Given the description of an element on the screen output the (x, y) to click on. 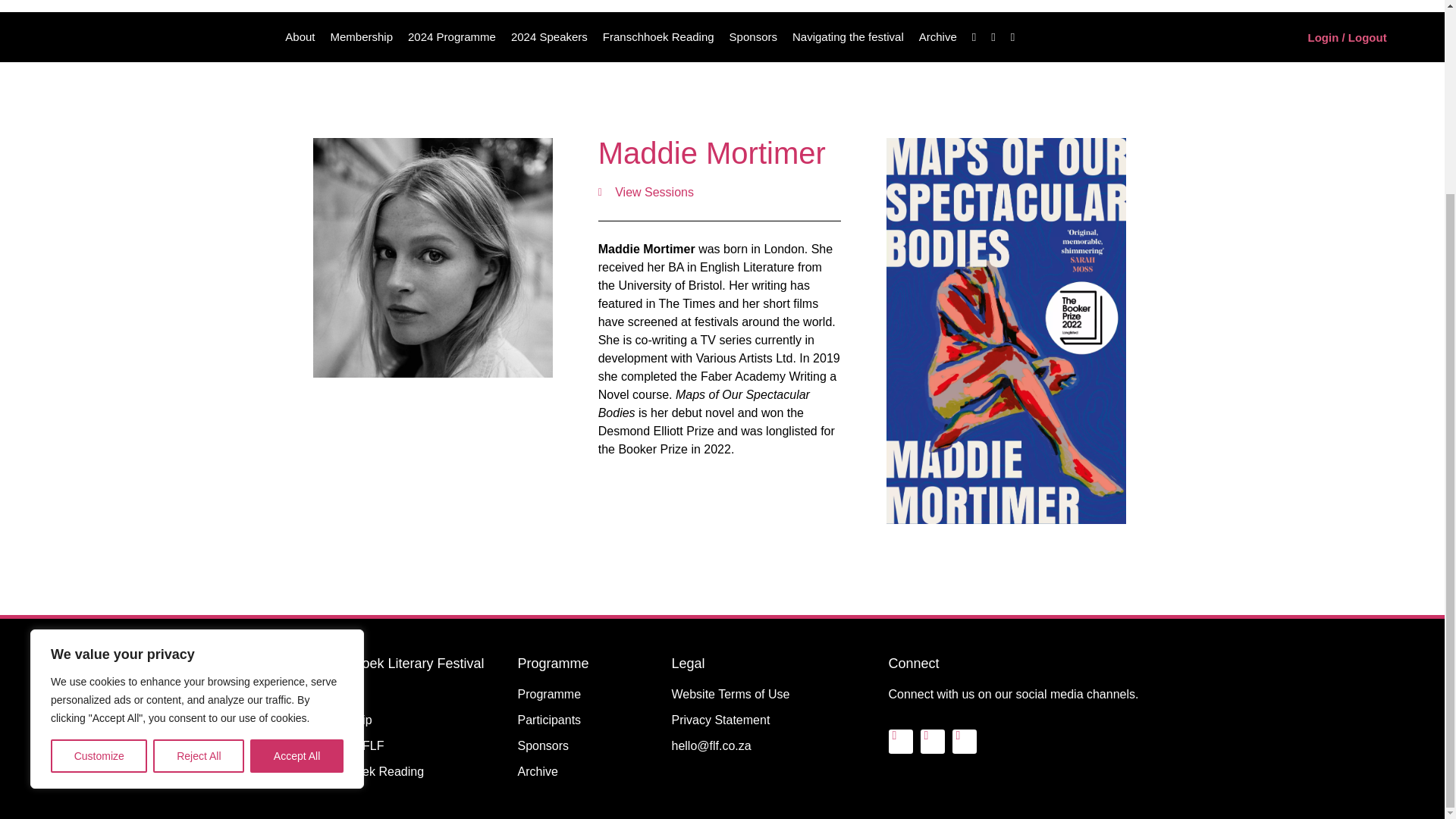
Reject All (198, 512)
Franschhoek Reading (658, 36)
About (299, 36)
2024 Speakers (549, 36)
Customize (98, 512)
Sponsors (753, 36)
Navigating the festival (847, 36)
Archive (937, 36)
2024 Programme (451, 36)
Membership (360, 36)
